Given the description of an element on the screen output the (x, y) to click on. 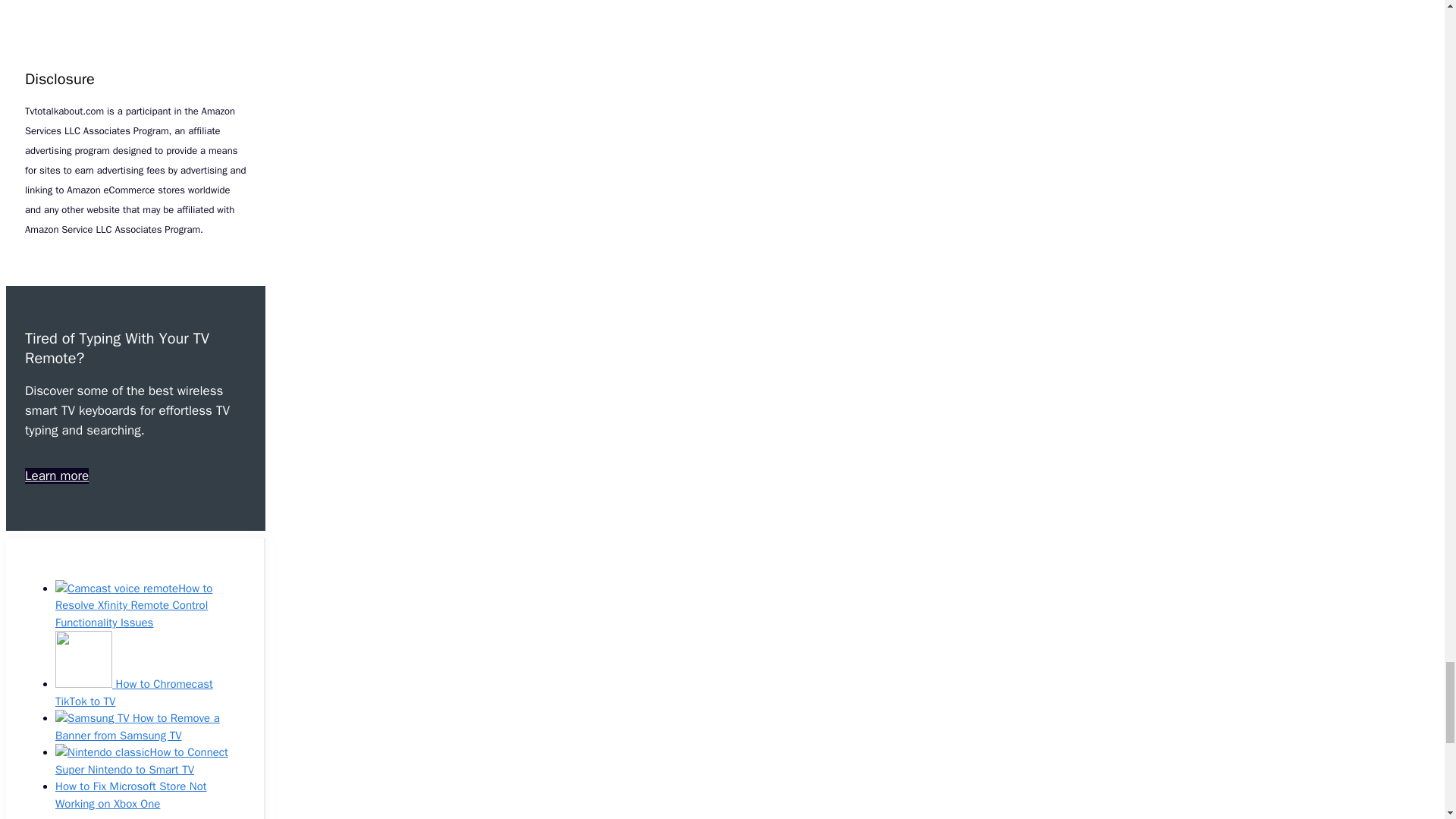
How to Resolve Xfinity Remote Control Functionality Issues (133, 605)
How to Fix Microsoft Store Not Working on Xbox One (130, 794)
How to Connect Super Nintendo to Smart TV (141, 760)
How to Remove a Banner from Samsung TV (137, 726)
Learn more (56, 475)
How to Chromecast TikTok to TV (133, 692)
